Given the description of an element on the screen output the (x, y) to click on. 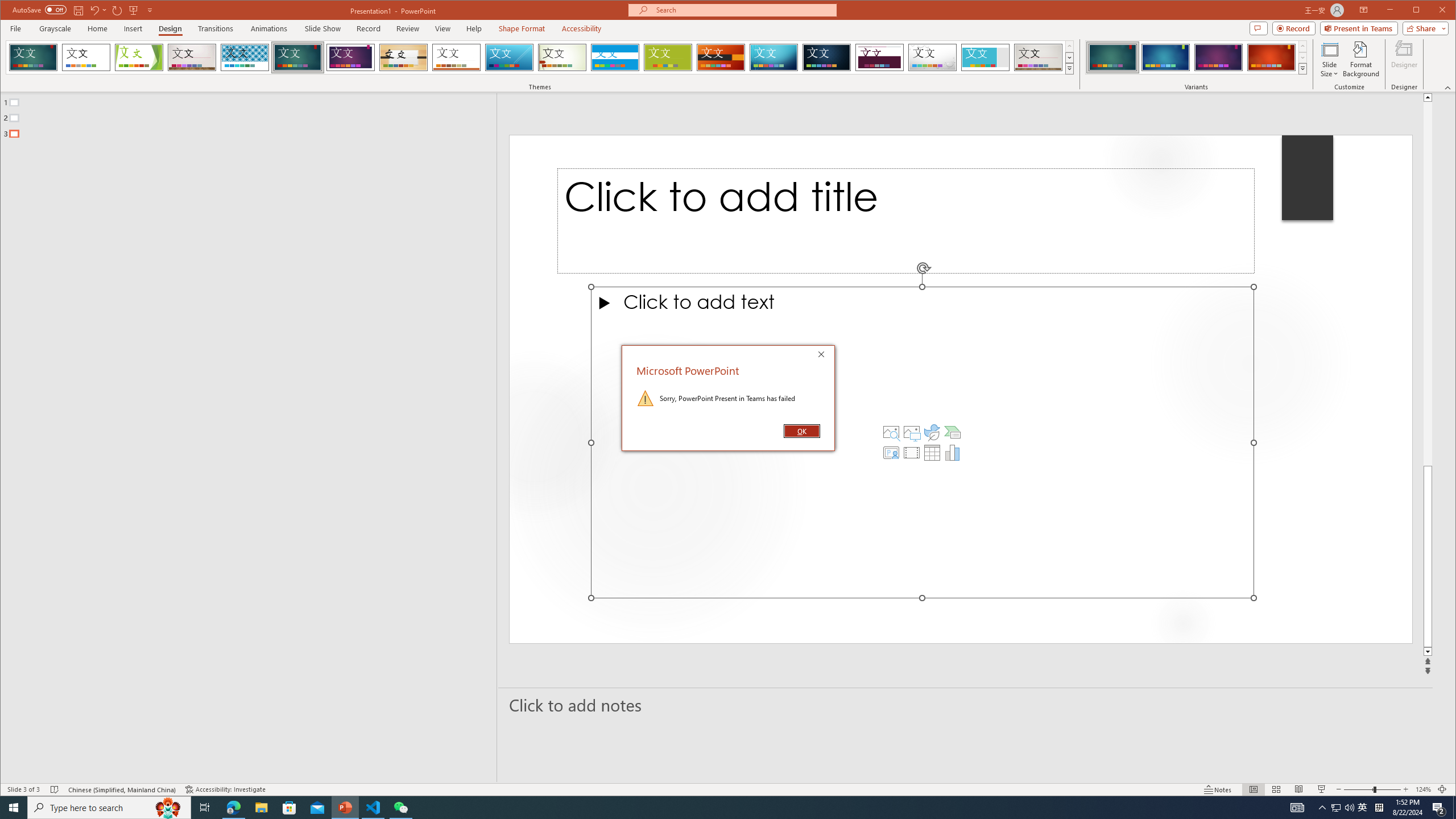
Damask (826, 57)
User Promoted Notification Area (1342, 807)
Banded (615, 57)
Notification Chevron (1322, 807)
Themes (1069, 68)
Gallery (1037, 57)
Ion Boardroom (350, 57)
WeChat - 1 running window (400, 807)
PowerPoint - 1 running window (345, 807)
